Given the description of an element on the screen output the (x, y) to click on. 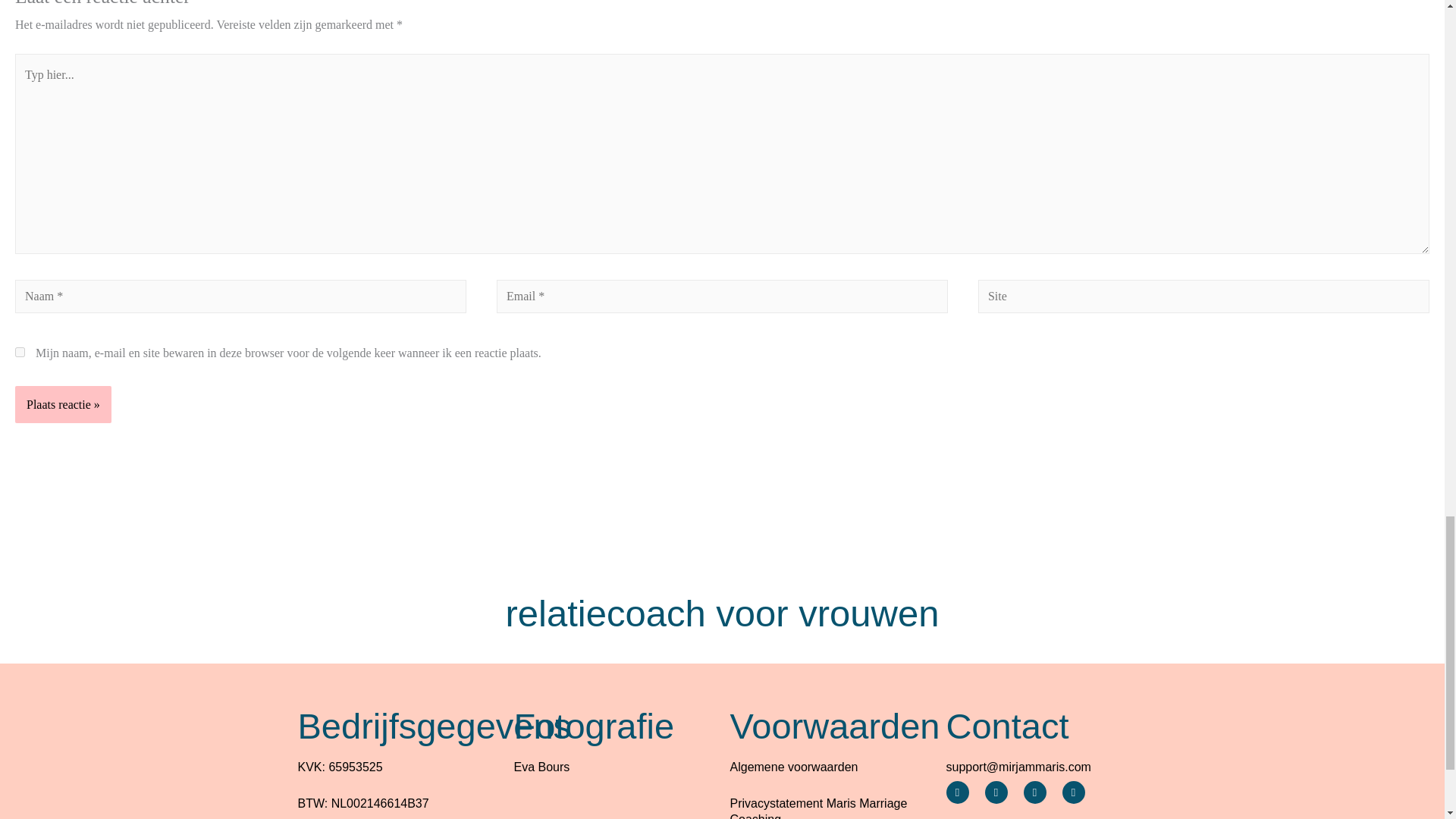
relatiecoach voor vrouwen (722, 612)
Contact (1007, 725)
Privacystatement Maris Marriage Coaching (818, 807)
Voorwaarden (834, 725)
yes (19, 352)
Algemene voorwaarden (793, 766)
Bedrijfsgegevens (433, 725)
Fotografie (594, 725)
